Given the description of an element on the screen output the (x, y) to click on. 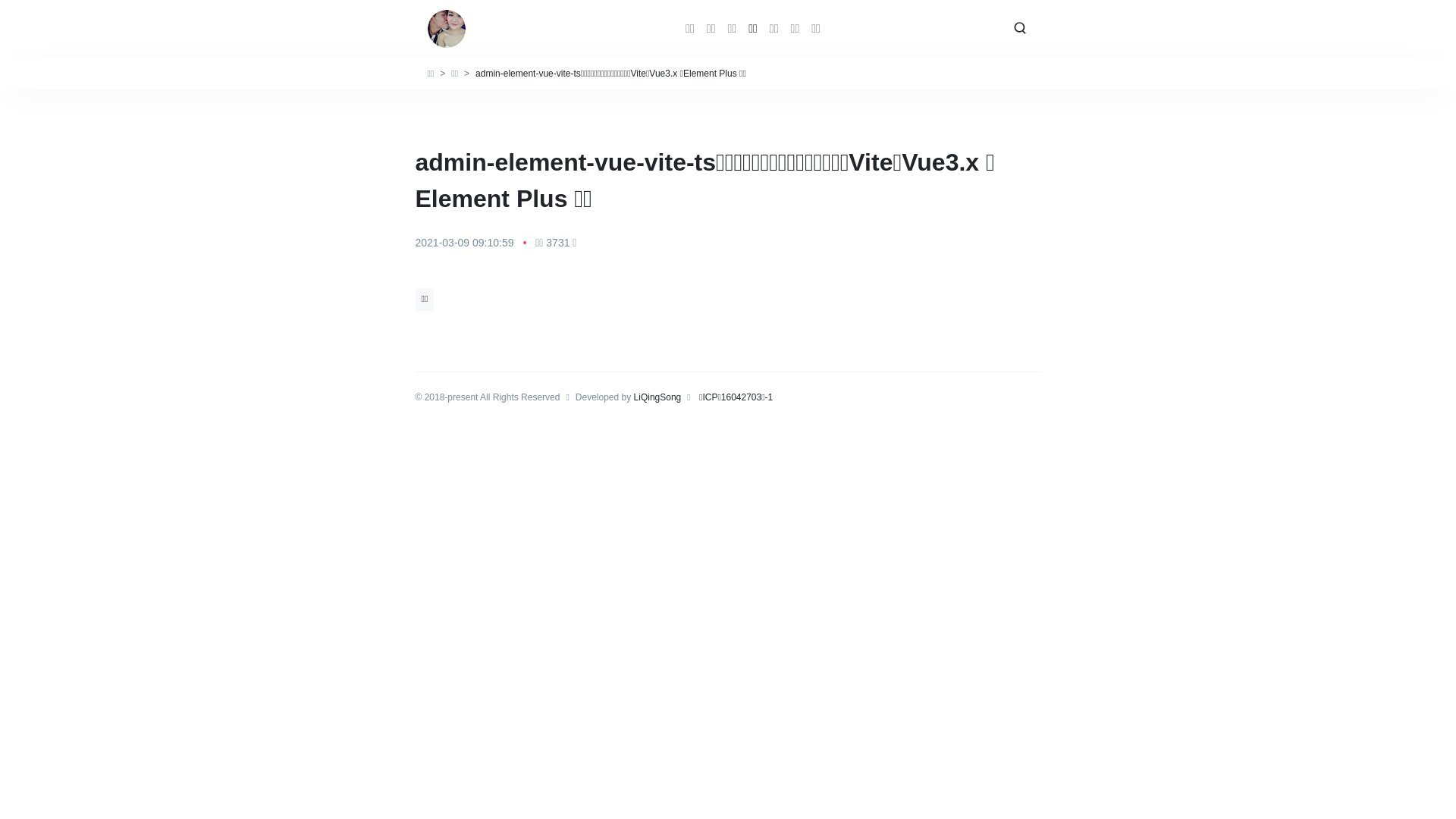
LiQingSong Element type: text (657, 397)
